Given the description of an element on the screen output the (x, y) to click on. 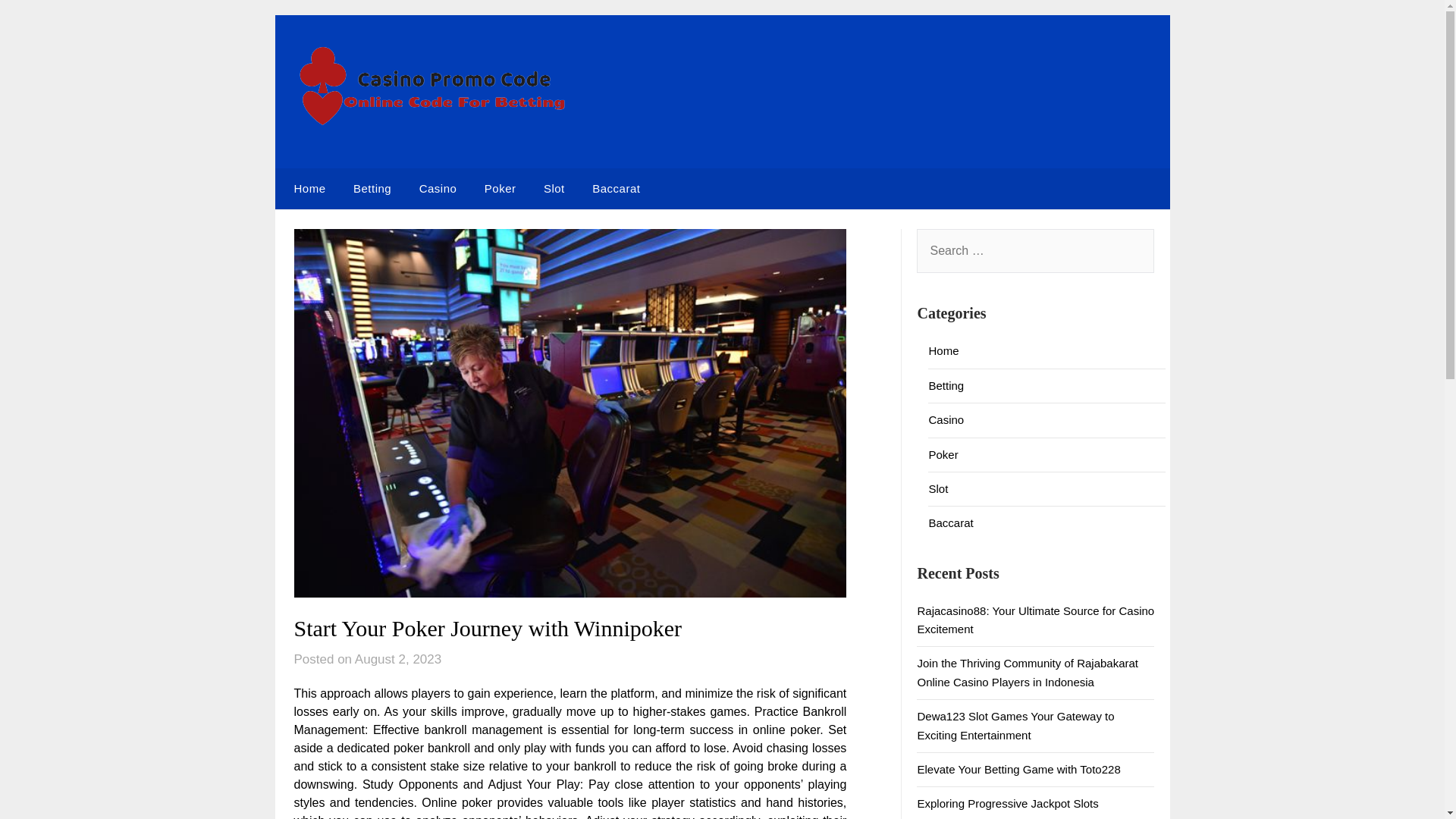
Elevate Your Betting Game with Toto228 (1018, 768)
Casino (945, 419)
Exploring Progressive Jackpot Slots (1007, 802)
Slot (937, 488)
Home (943, 350)
Rajacasino88: Your Ultimate Source for Casino Excitement (1035, 619)
Poker (943, 453)
Casino (437, 188)
Slot (553, 188)
Baccarat (950, 522)
Search (38, 22)
Dewa123 Slot Games Your Gateway to Exciting Entertainment (1015, 725)
Home (306, 188)
Betting (945, 385)
